Given the description of an element on the screen output the (x, y) to click on. 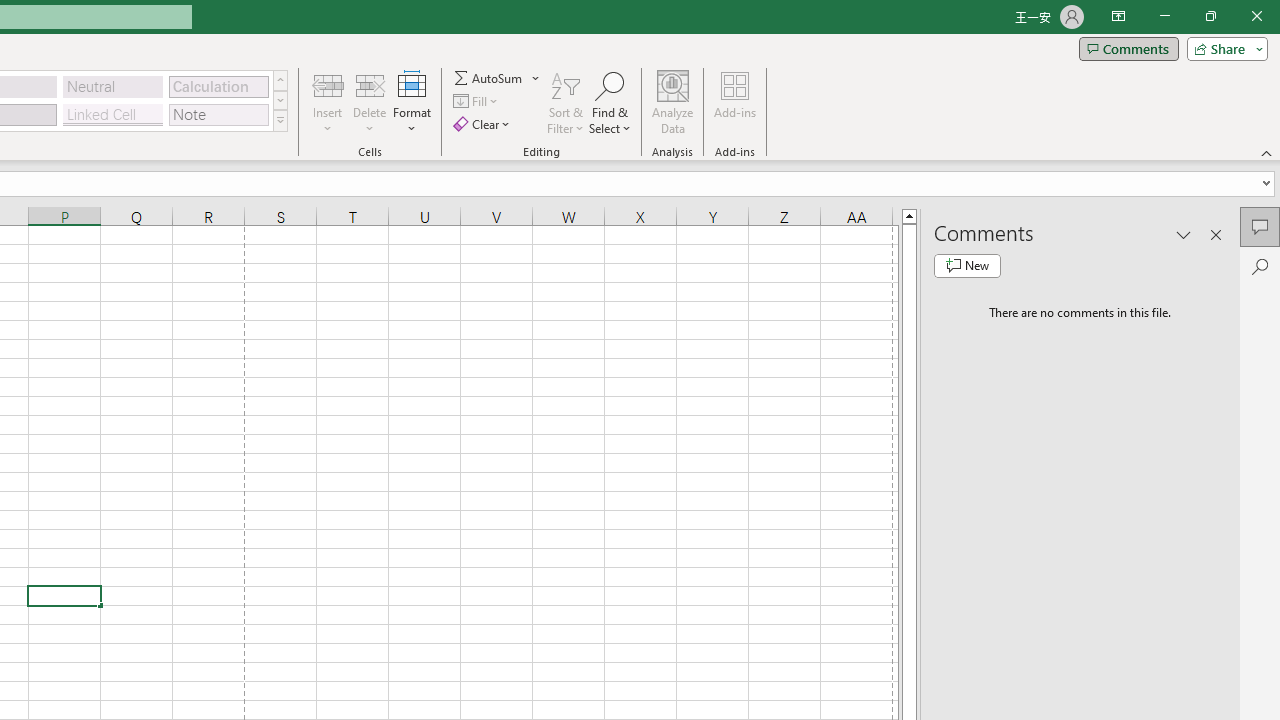
Analyze Data (673, 102)
Format (411, 102)
Search (1260, 266)
Close pane (1215, 234)
Find & Select (610, 102)
Neutral (113, 86)
